Given the description of an element on the screen output the (x, y) to click on. 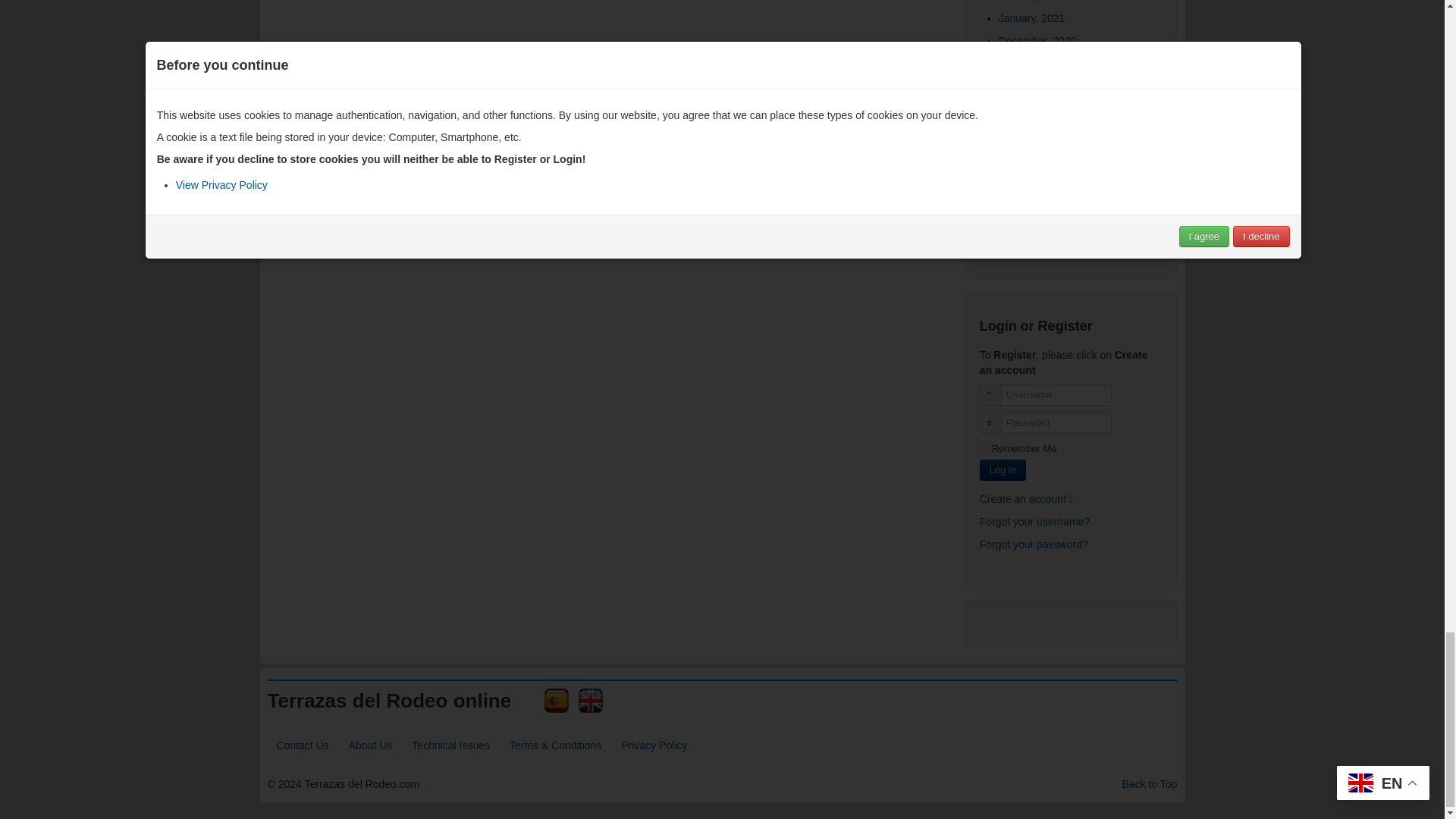
yes (984, 448)
